Given the description of an element on the screen output the (x, y) to click on. 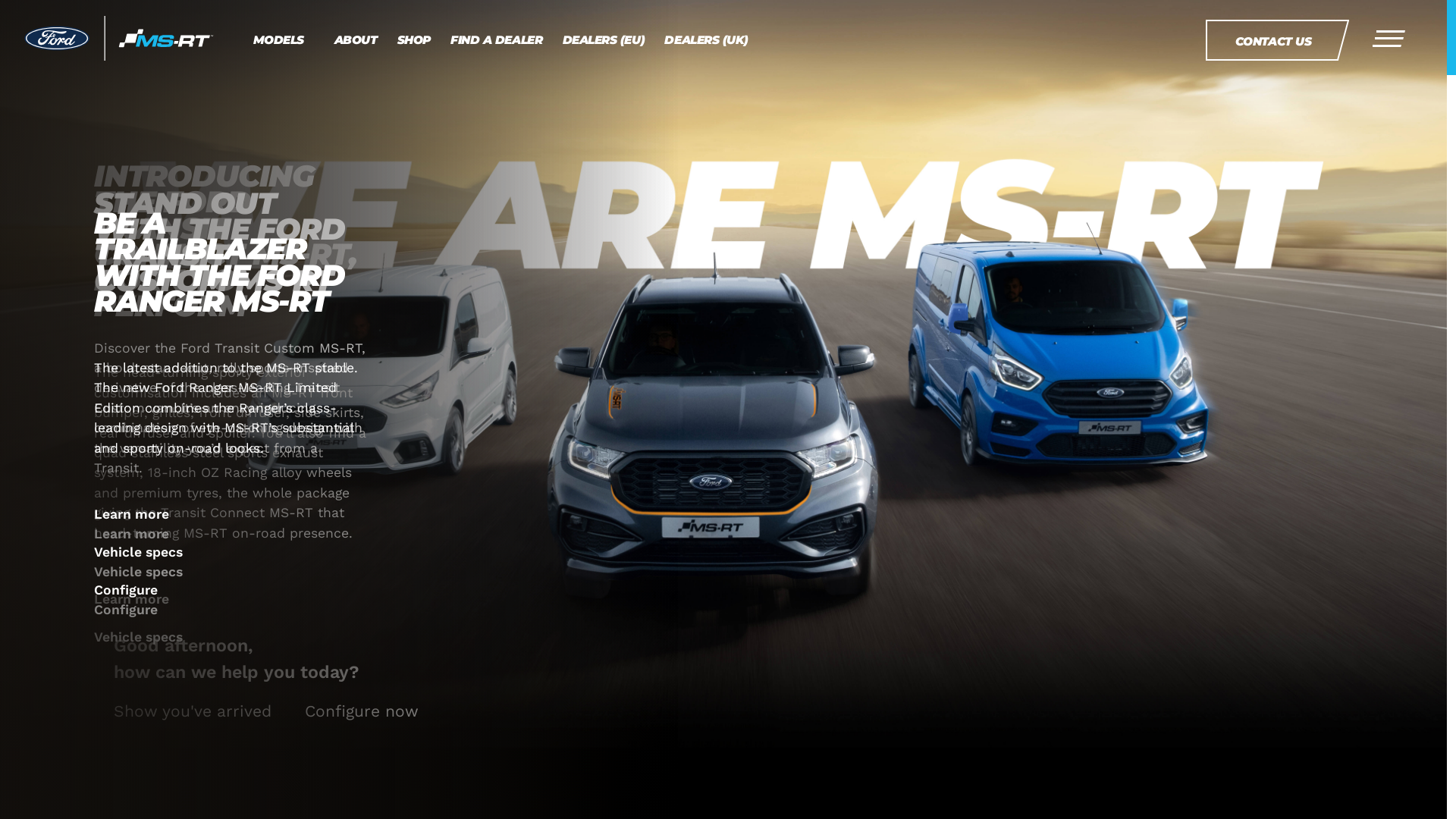
Vehicle specs Element type: text (138, 571)
ABOUT Element type: text (351, 40)
Configure Element type: text (125, 589)
FIND A DEALER Element type: text (493, 40)
Vehicle specs Element type: text (138, 636)
Configure now Element type: text (361, 711)
Show you've arrived Element type: text (192, 711)
Configure Element type: text (125, 609)
Learn more Element type: text (131, 598)
Learn more Element type: text (131, 513)
SHOP Element type: text (410, 40)
Learn more Element type: text (131, 533)
Vehicle specs Element type: text (138, 551)
DEALERS (UK) Element type: text (703, 40)
DEALERS (EU) Element type: text (600, 40)
MODELS Element type: text (277, 40)
CONTACT US Element type: text (1270, 39)
